Given the description of an element on the screen output the (x, y) to click on. 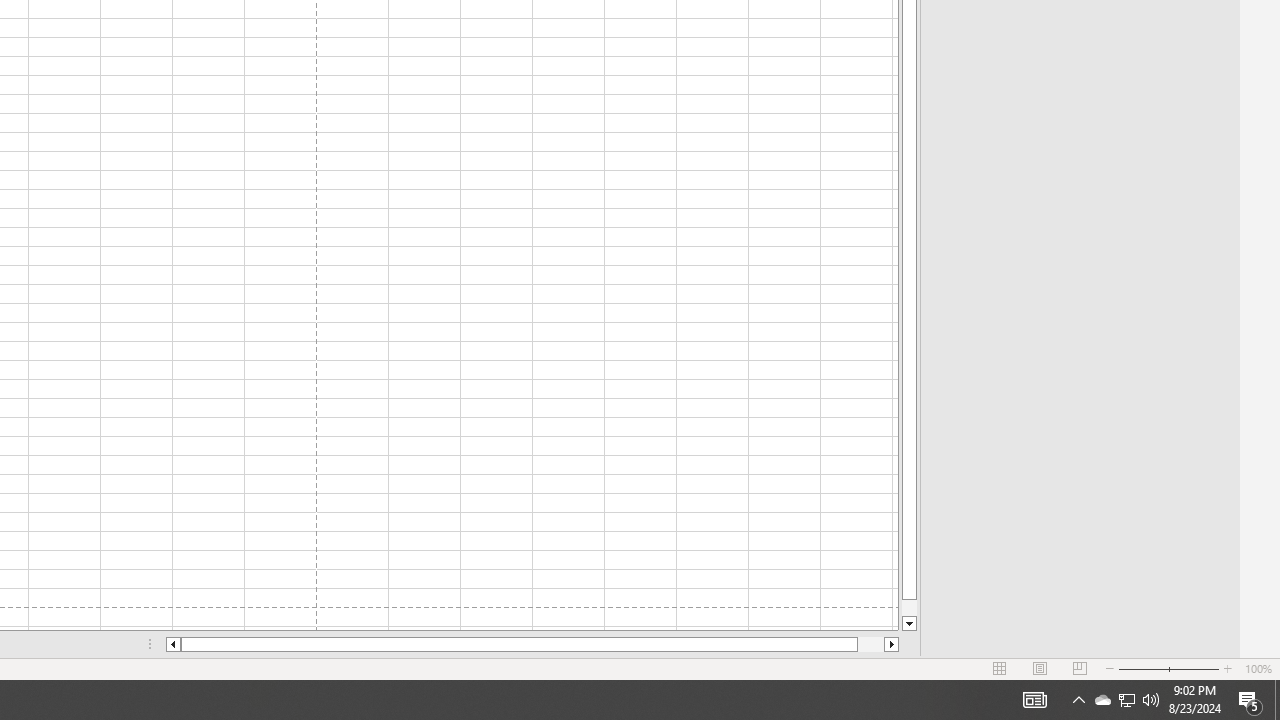
Zoom (1168, 668)
Page Break Preview (1079, 668)
Line down (909, 624)
Class: NetUIScrollBar (532, 644)
Zoom Out (1142, 668)
Page down (909, 607)
Column left (171, 644)
Column right (892, 644)
Page right (870, 644)
Zoom In (1227, 668)
